Given the description of an element on the screen output the (x, y) to click on. 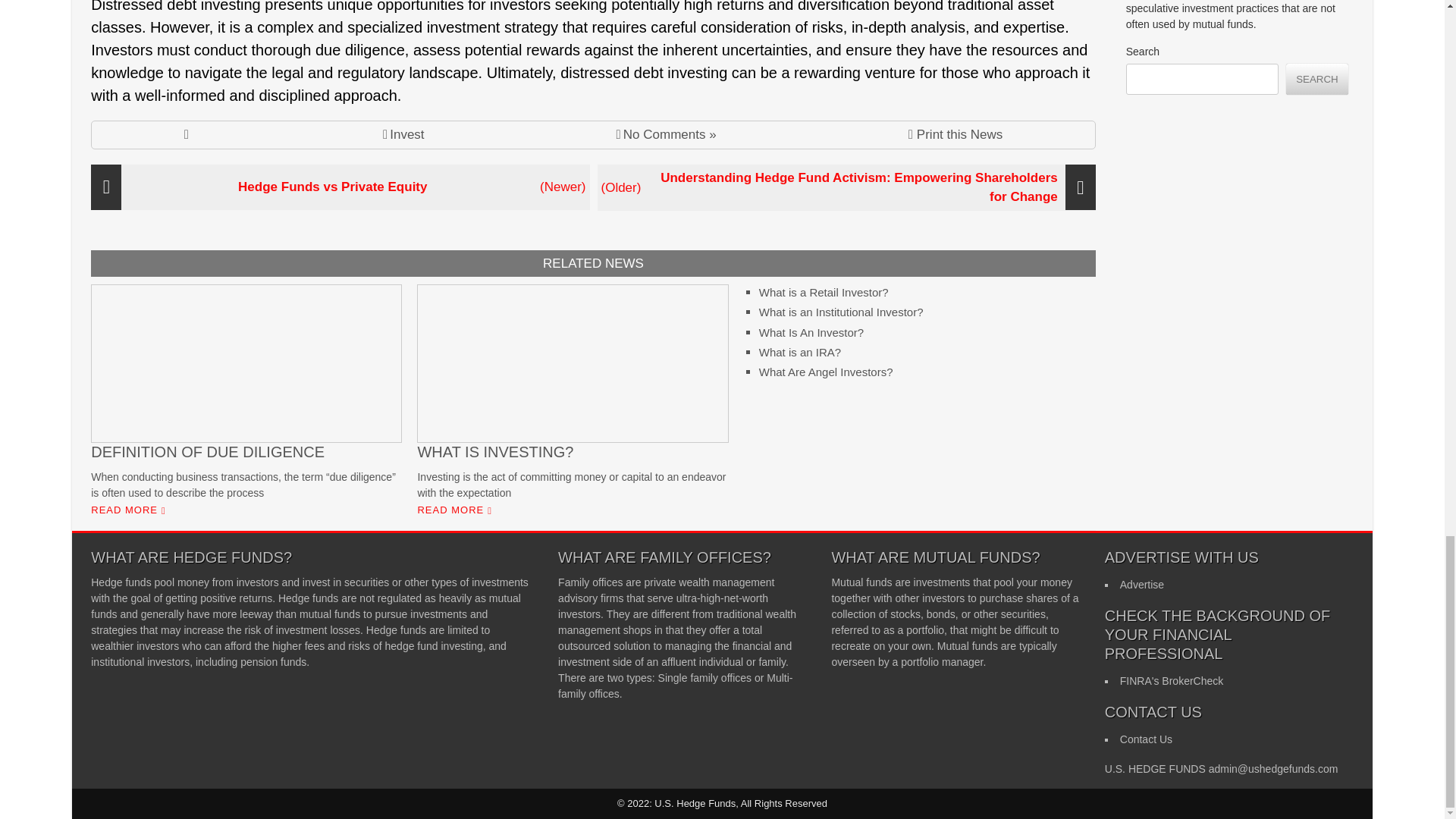
Permanent Link to What is an IRA? (799, 351)
DEFINITION OF DUE DILIGENCE (245, 372)
Permanent Link to What is a Retail Investor? (823, 291)
Permanent Link to What is Investing? (572, 372)
WHAT IS INVESTING? (572, 372)
READ MORE (451, 509)
Financial Professional Check (1171, 680)
What is an Institutional Investor? (840, 311)
What is an IRA? (799, 351)
Print this News (955, 134)
What Is An Investor? (810, 332)
Permanent Link to What Are Angel Investors? (825, 371)
What is a Retail Investor? (823, 291)
CLICK HERE  TO ADVERTISE WITH US (1141, 584)
